Given the description of an element on the screen output the (x, y) to click on. 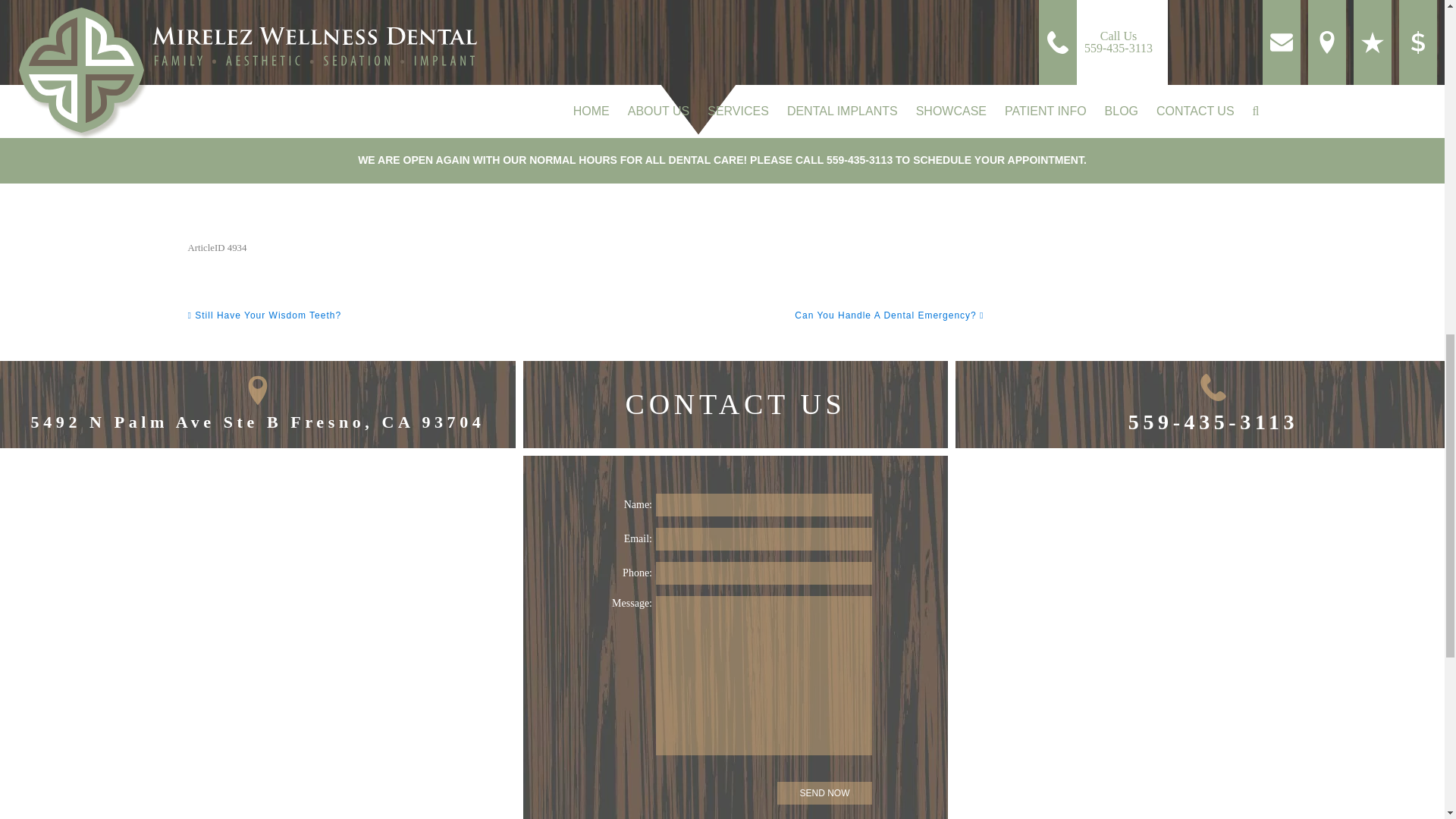
Send Now (824, 793)
